Given the description of an element on the screen output the (x, y) to click on. 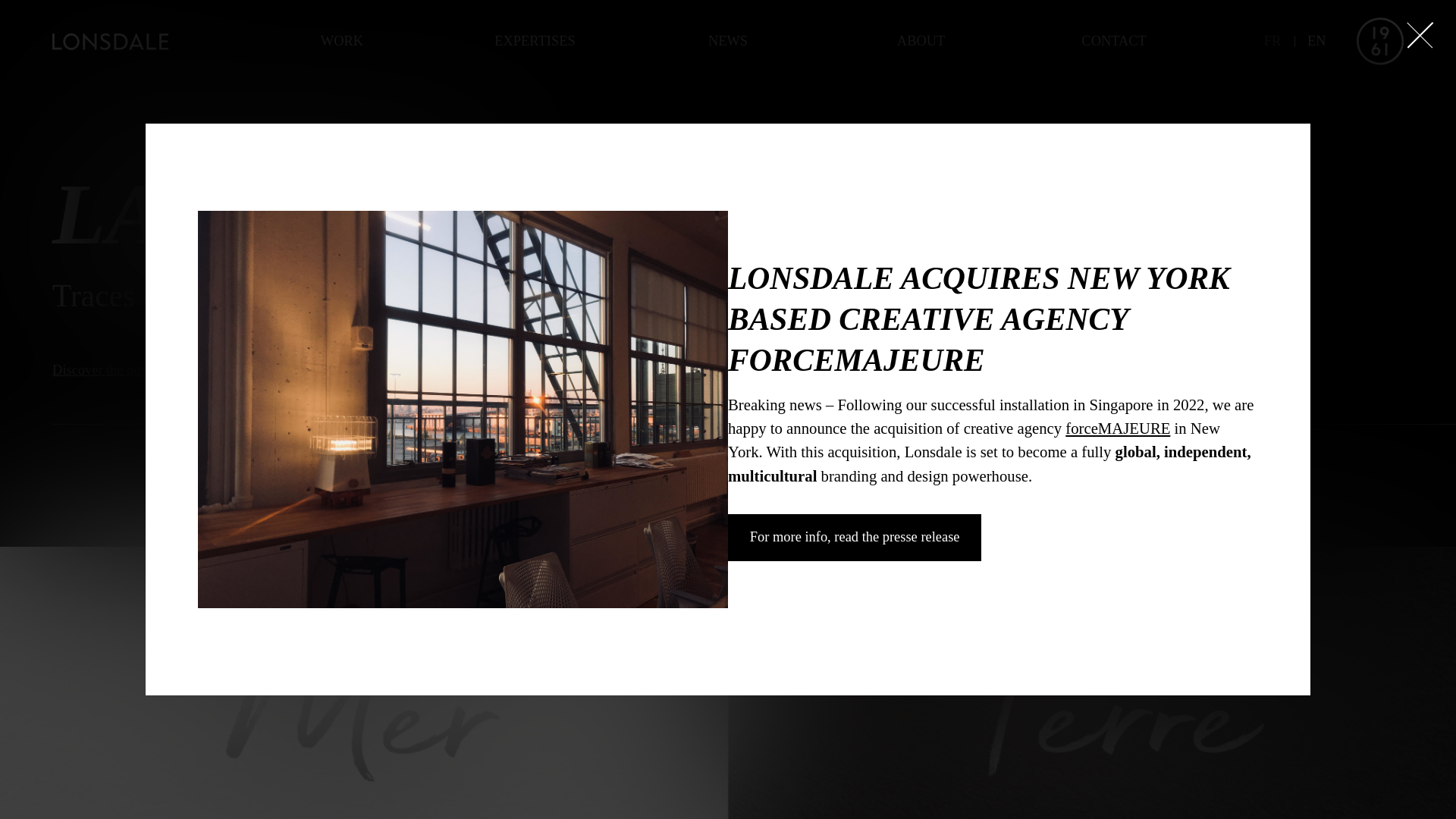
CONTACT (1114, 41)
FR (1272, 41)
ABOUT (920, 41)
NEWS (728, 41)
EN (1316, 41)
WORK (342, 41)
EXPERTISES (534, 41)
